Given the description of an element on the screen output the (x, y) to click on. 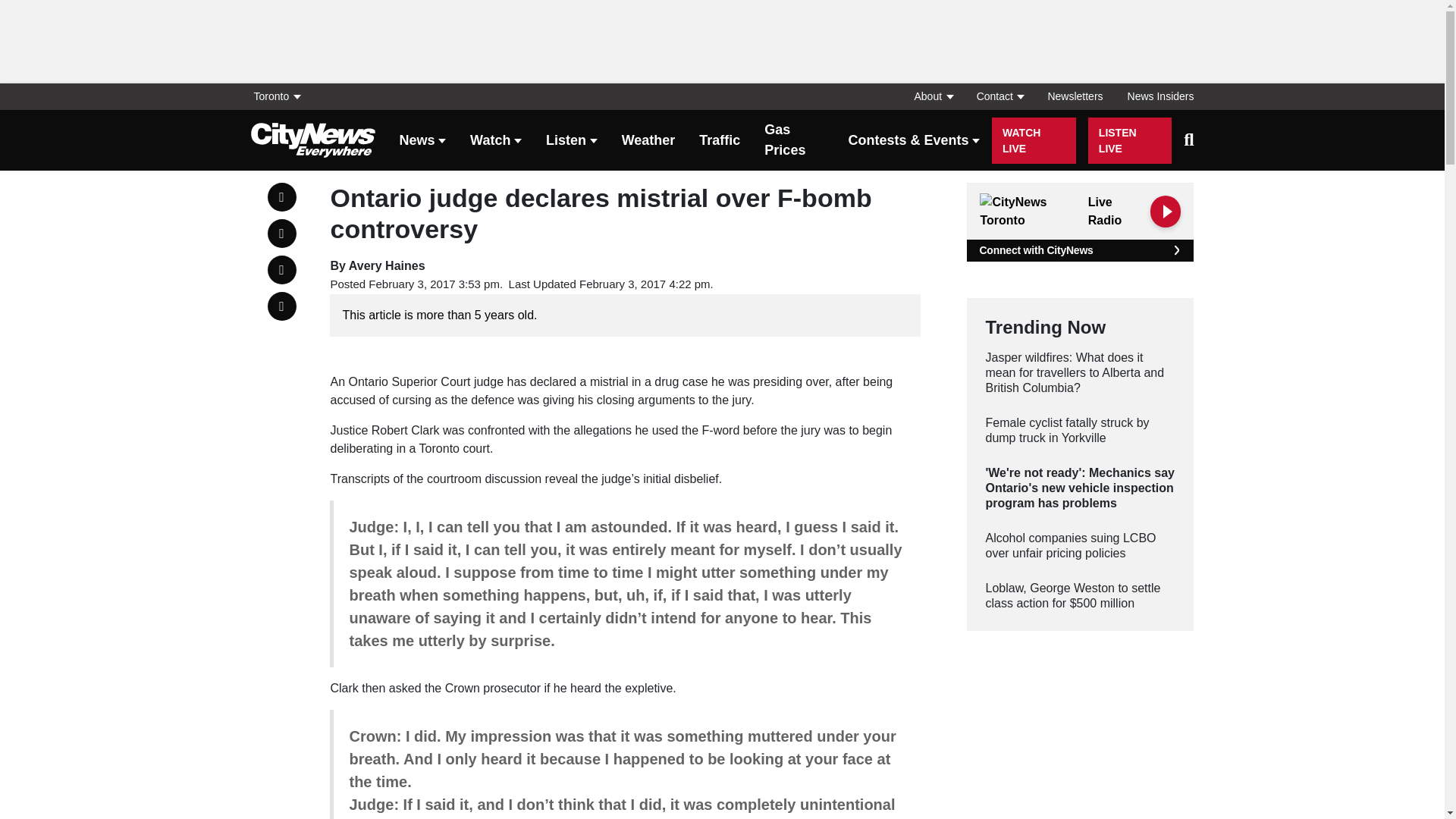
About (932, 96)
News (421, 140)
News Insiders (1154, 96)
Contact (999, 96)
Toronto (280, 96)
Watch (495, 140)
Female cyclist fatally struck by dump truck in Yorkville (1079, 430)
Newsletters (1075, 96)
